Given the description of an element on the screen output the (x, y) to click on. 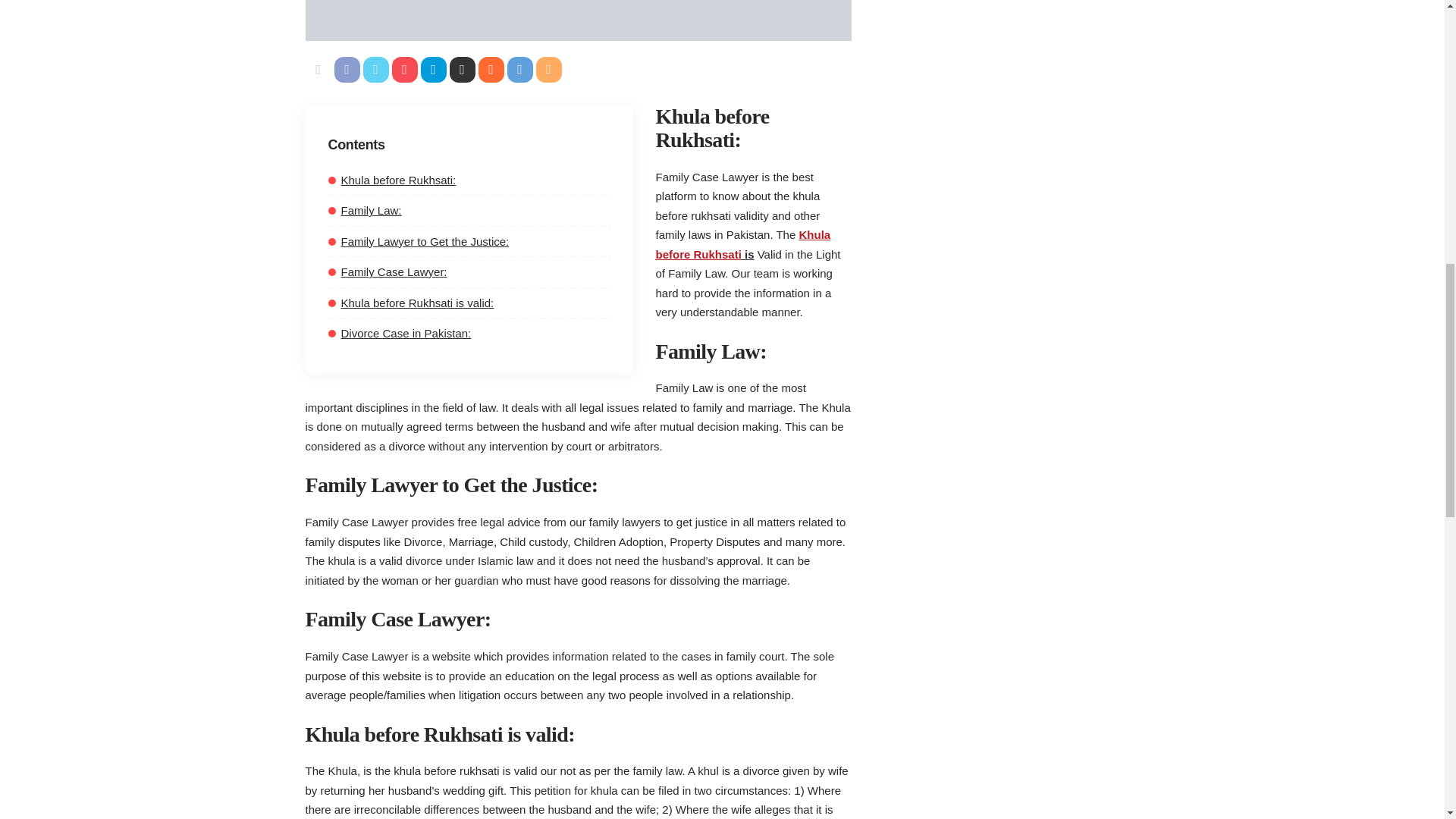
Family Law: (364, 210)
Family Case Lawyer: (386, 271)
Khula before Rukhsati is valid: (410, 302)
Khula before Rukhsati: (391, 179)
Family Lawyer to Get the Justice: (417, 241)
